Given the description of an element on the screen output the (x, y) to click on. 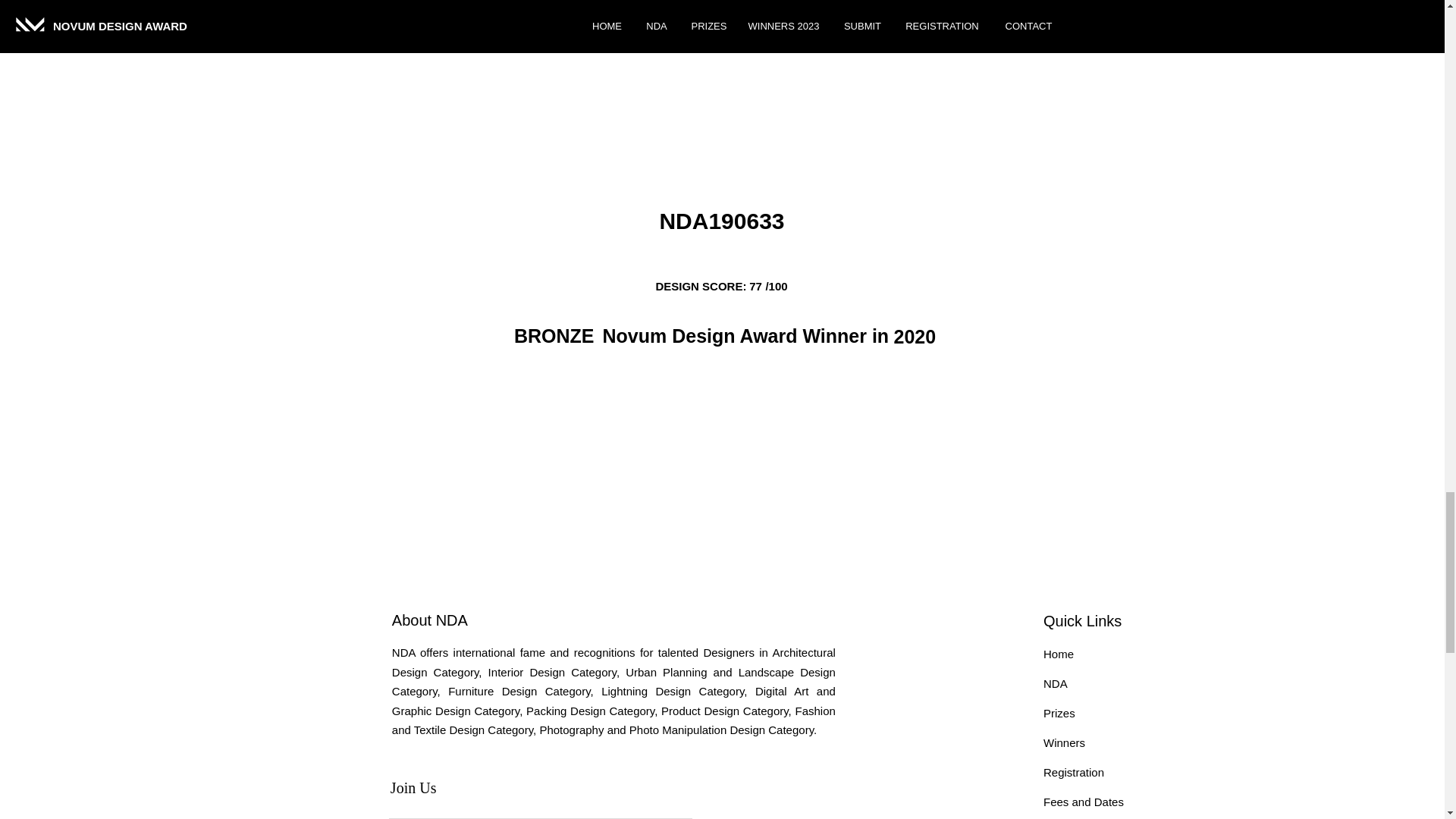
Prizes (1059, 712)
NDA (1055, 683)
Fees and Dates (1083, 801)
Home (1058, 653)
Registration (1073, 771)
Winners (1063, 742)
